Given the description of an element on the screen output the (x, y) to click on. 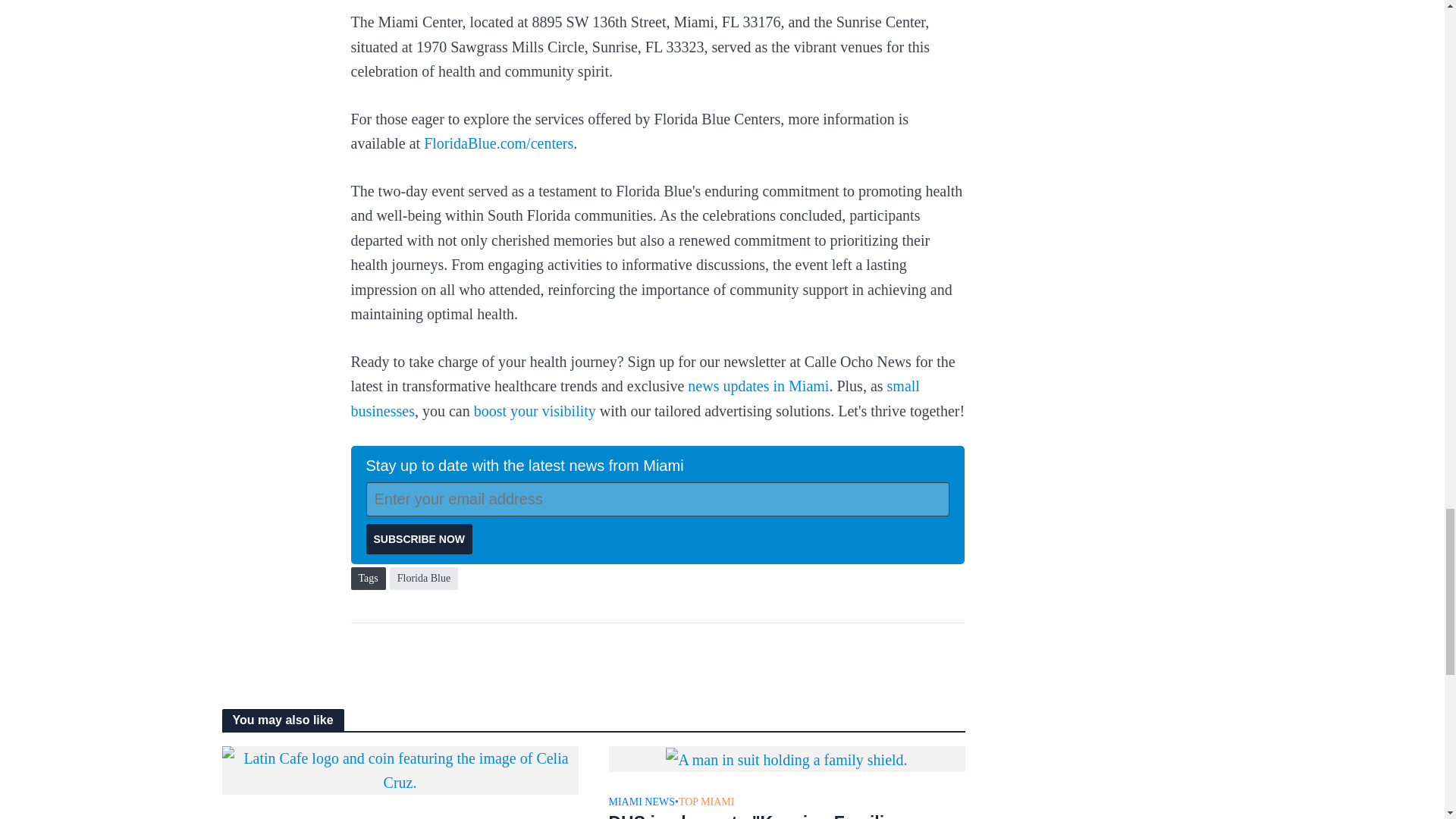
Subscribe Now (418, 539)
